Given the description of an element on the screen output the (x, y) to click on. 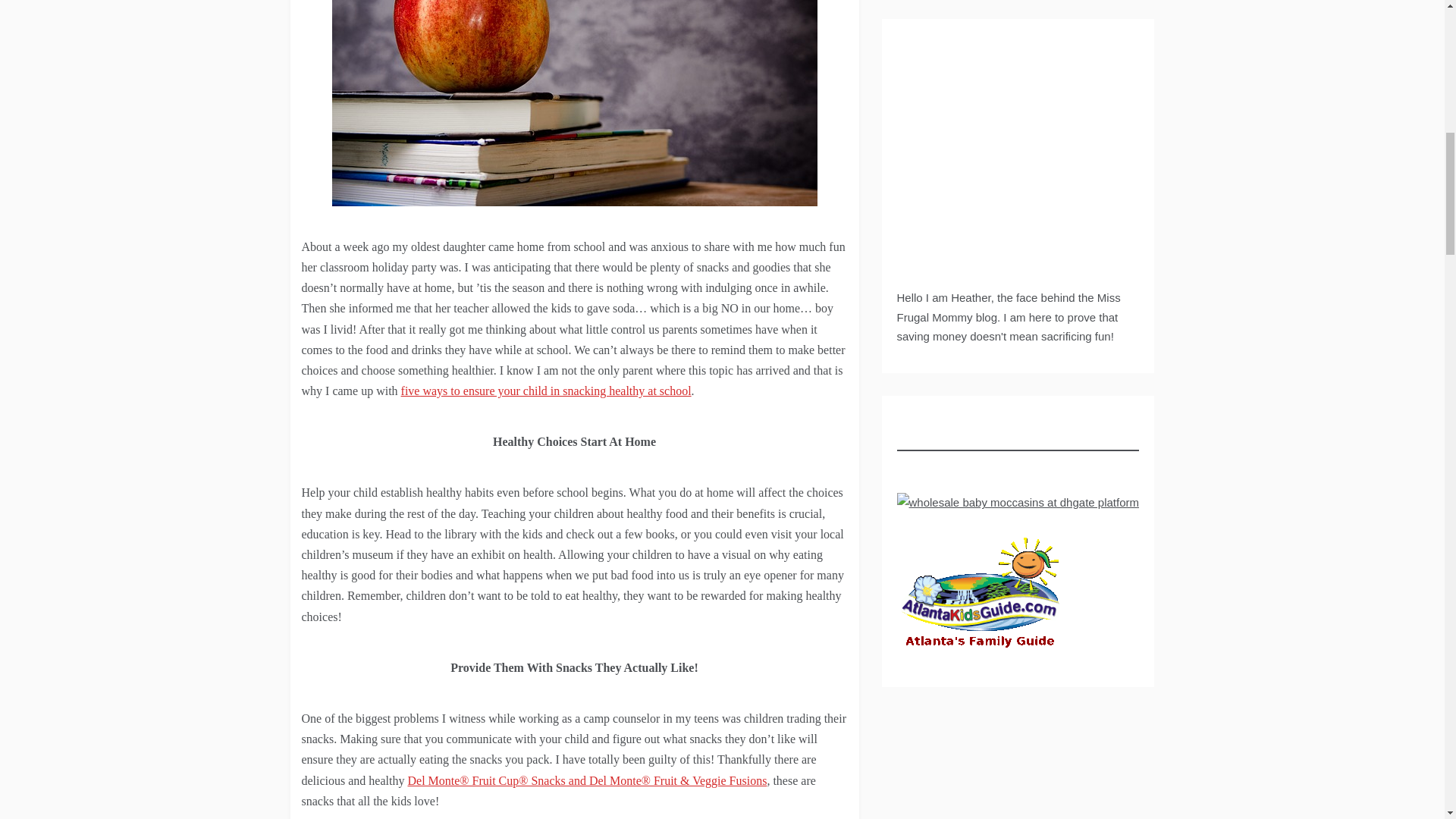
five ways to ensure your child in snacking healthy at school (546, 390)
